Given the description of an element on the screen output the (x, y) to click on. 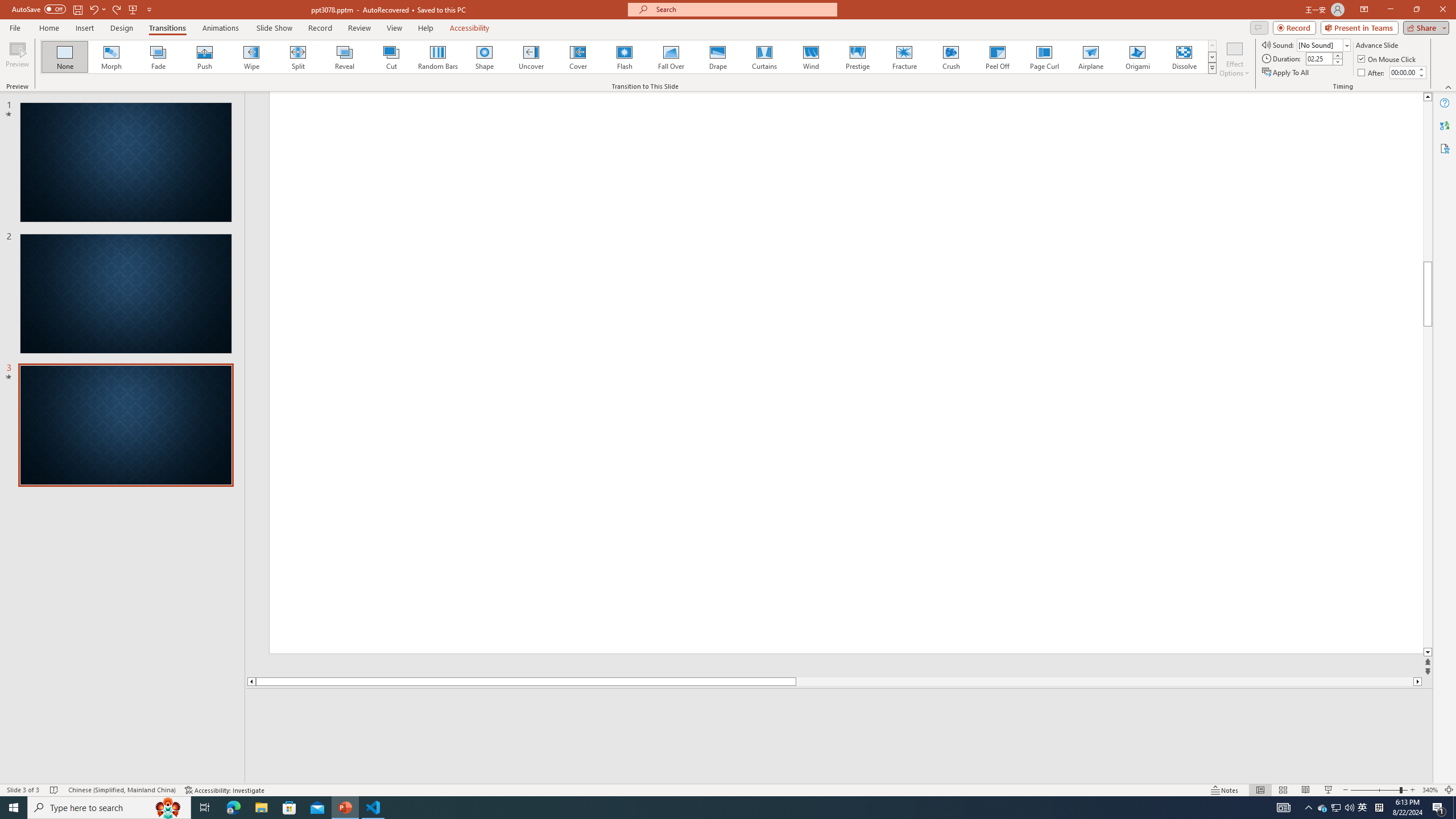
AutomationID: AnimationTransitionGallery (628, 56)
On Mouse Click (1387, 58)
None (65, 56)
Page up (1427, 261)
